Given the description of an element on the screen output the (x, y) to click on. 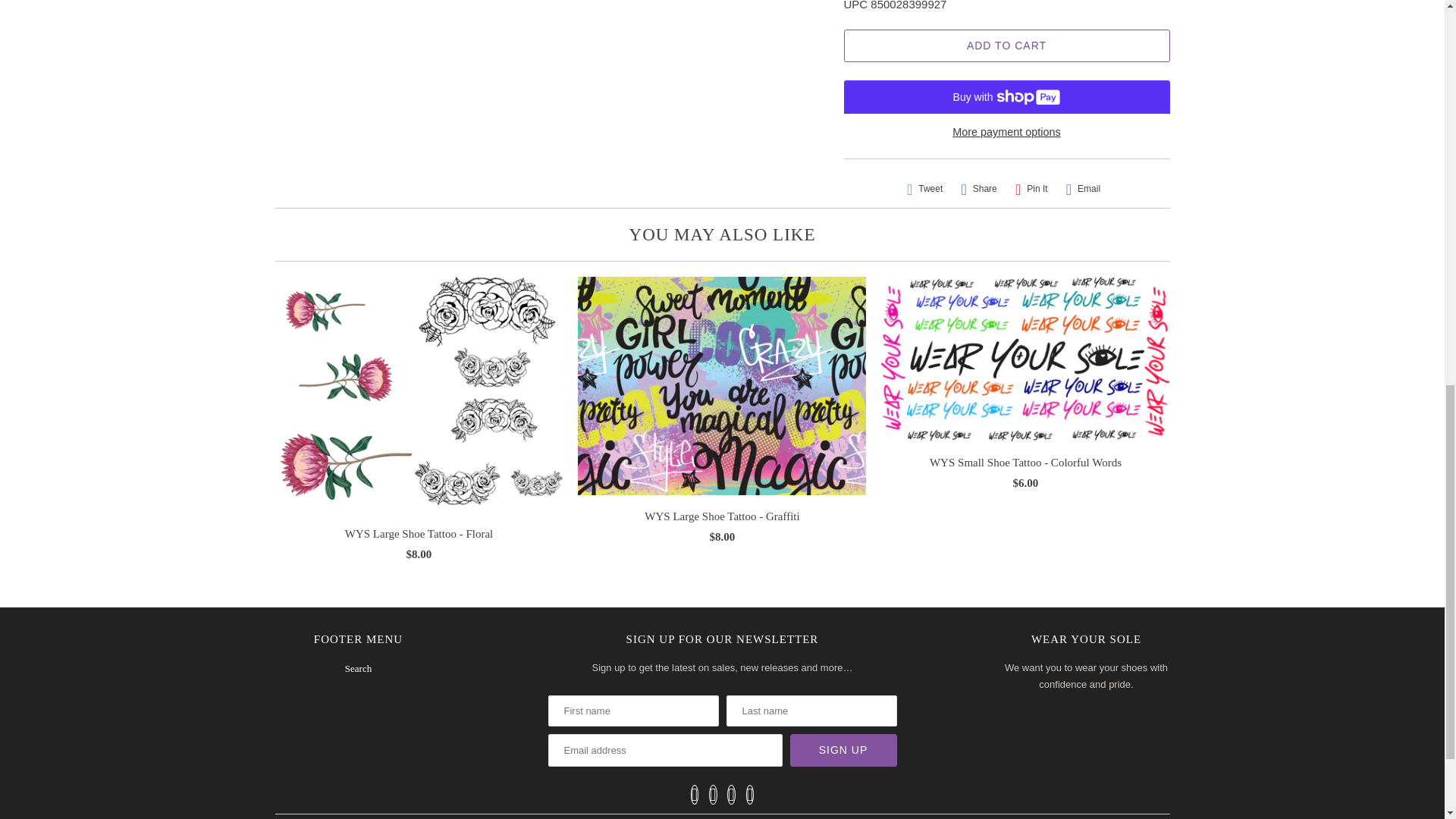
Sign Up (843, 749)
Share this on Twitter (924, 188)
